Given the description of an element on the screen output the (x, y) to click on. 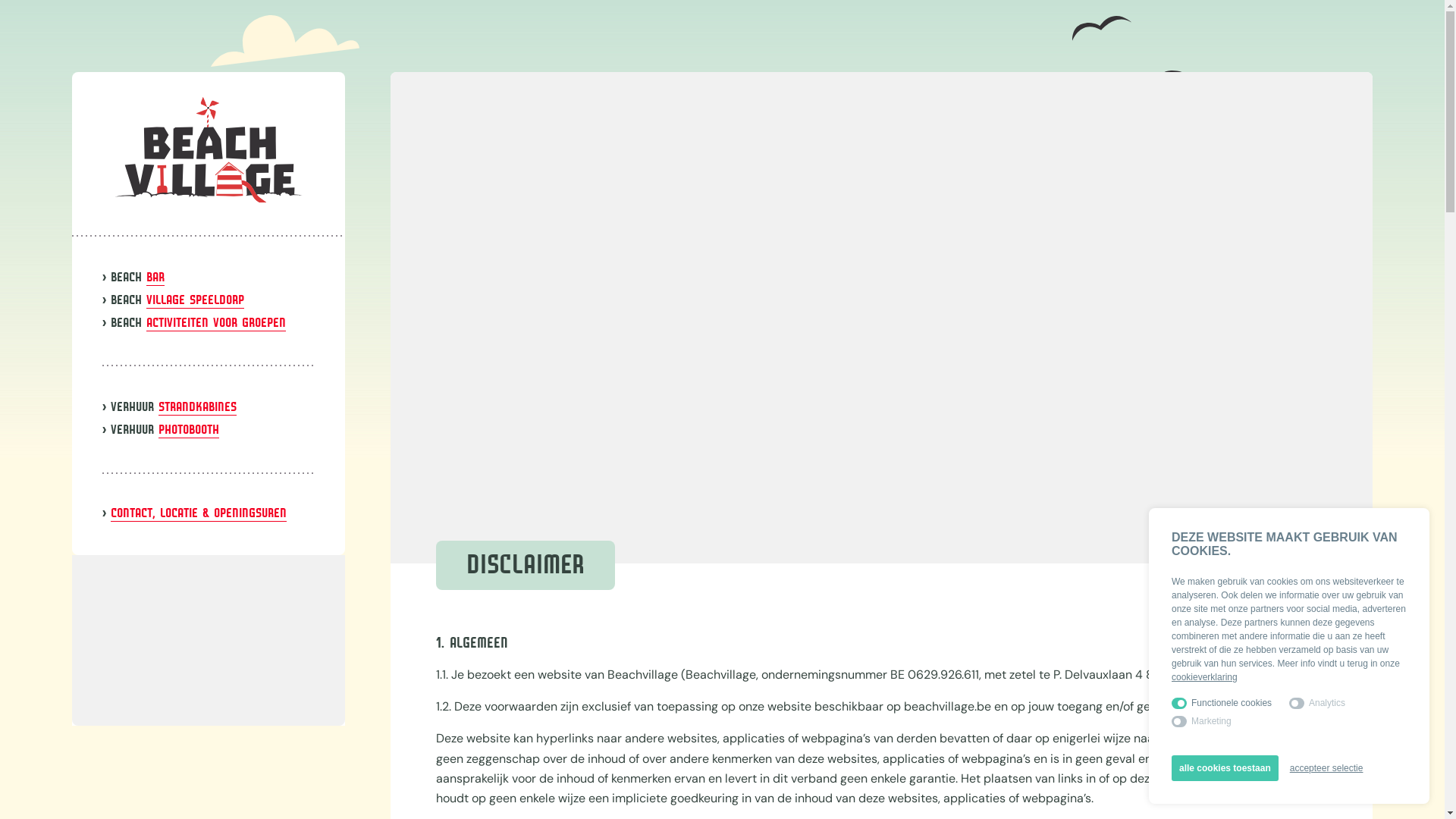
BEACH VILLAGE SPEELDORP Element type: text (177, 300)
cookieverklaring Element type: text (1204, 676)
CONTACT, LOCATIE & OPENINGSUREN Element type: text (198, 513)
VERHUUR PHOTOBOOTH Element type: text (164, 430)
alle cookies toestaan Element type: text (1224, 768)
BEACH BAR Element type: text (137, 277)
BEACH ACTIVITEITEN VOOR GROEPEN Element type: text (197, 323)
VERHUUR STRANDKABINES Element type: text (173, 407)
accepteer selectie Element type: text (1326, 768)
